Given the description of an element on the screen output the (x, y) to click on. 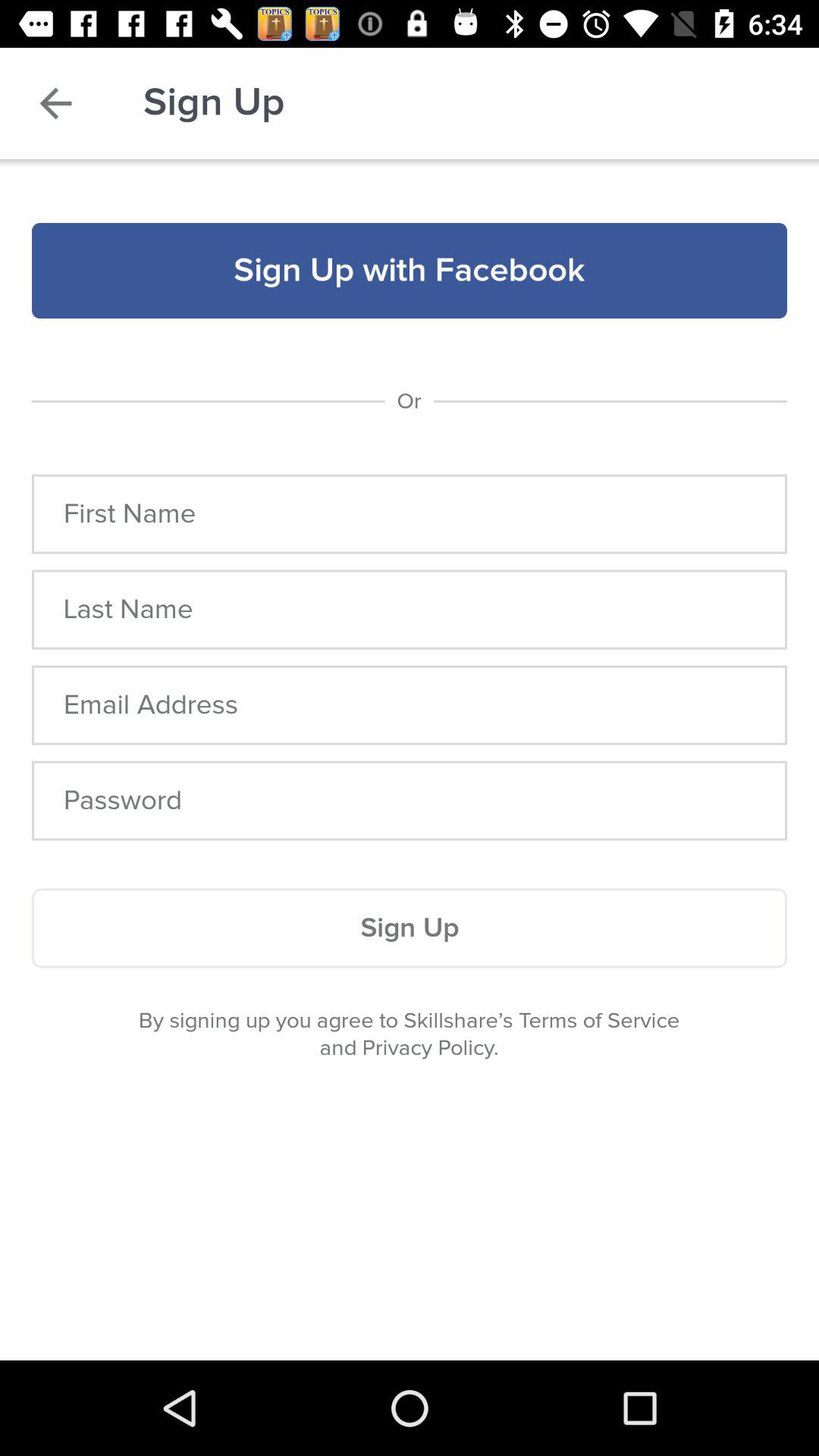
enter email address (409, 705)
